Given the description of an element on the screen output the (x, y) to click on. 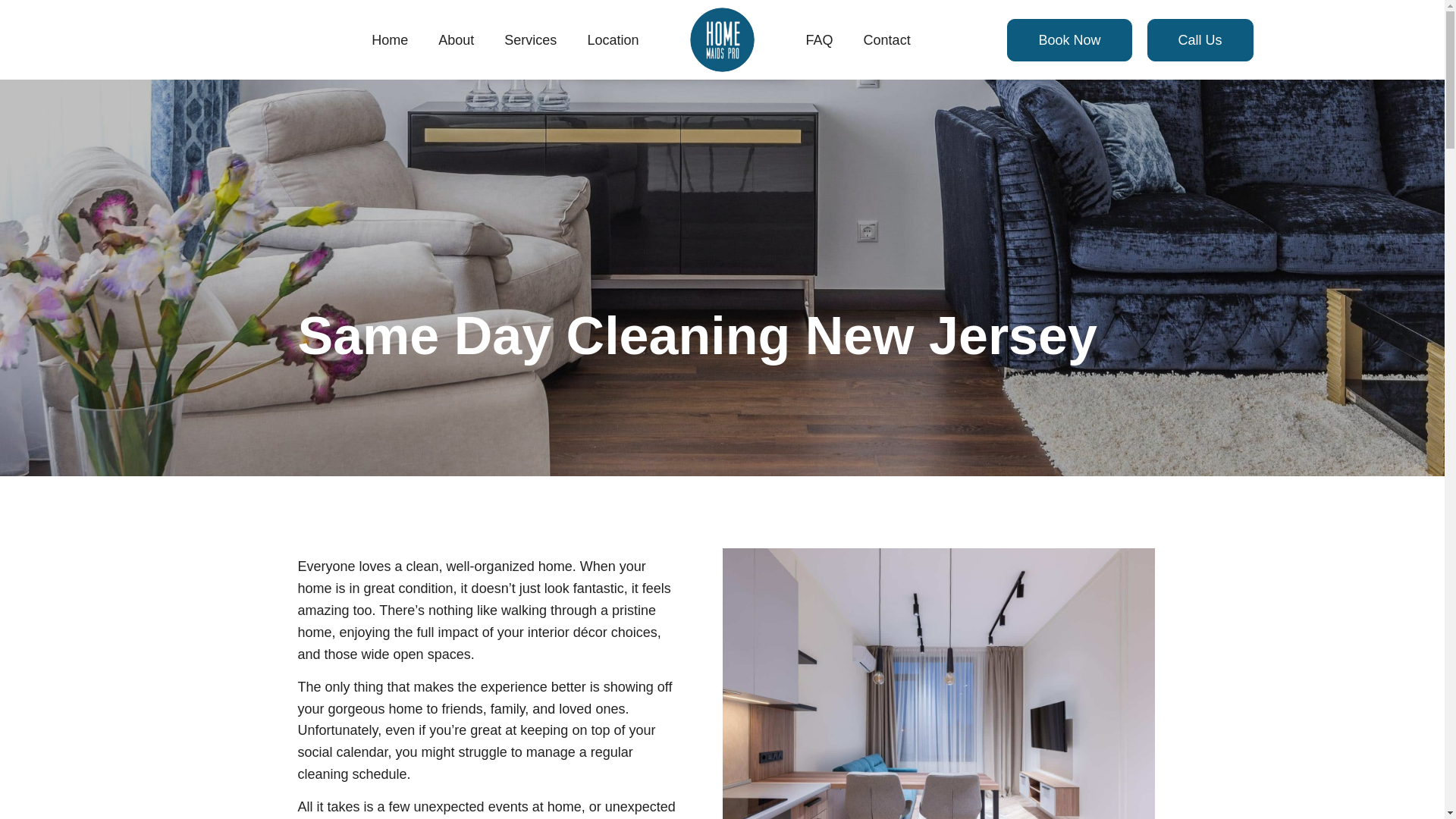
Services (530, 39)
Location (612, 39)
About (456, 39)
Home (389, 39)
